Given the description of an element on the screen output the (x, y) to click on. 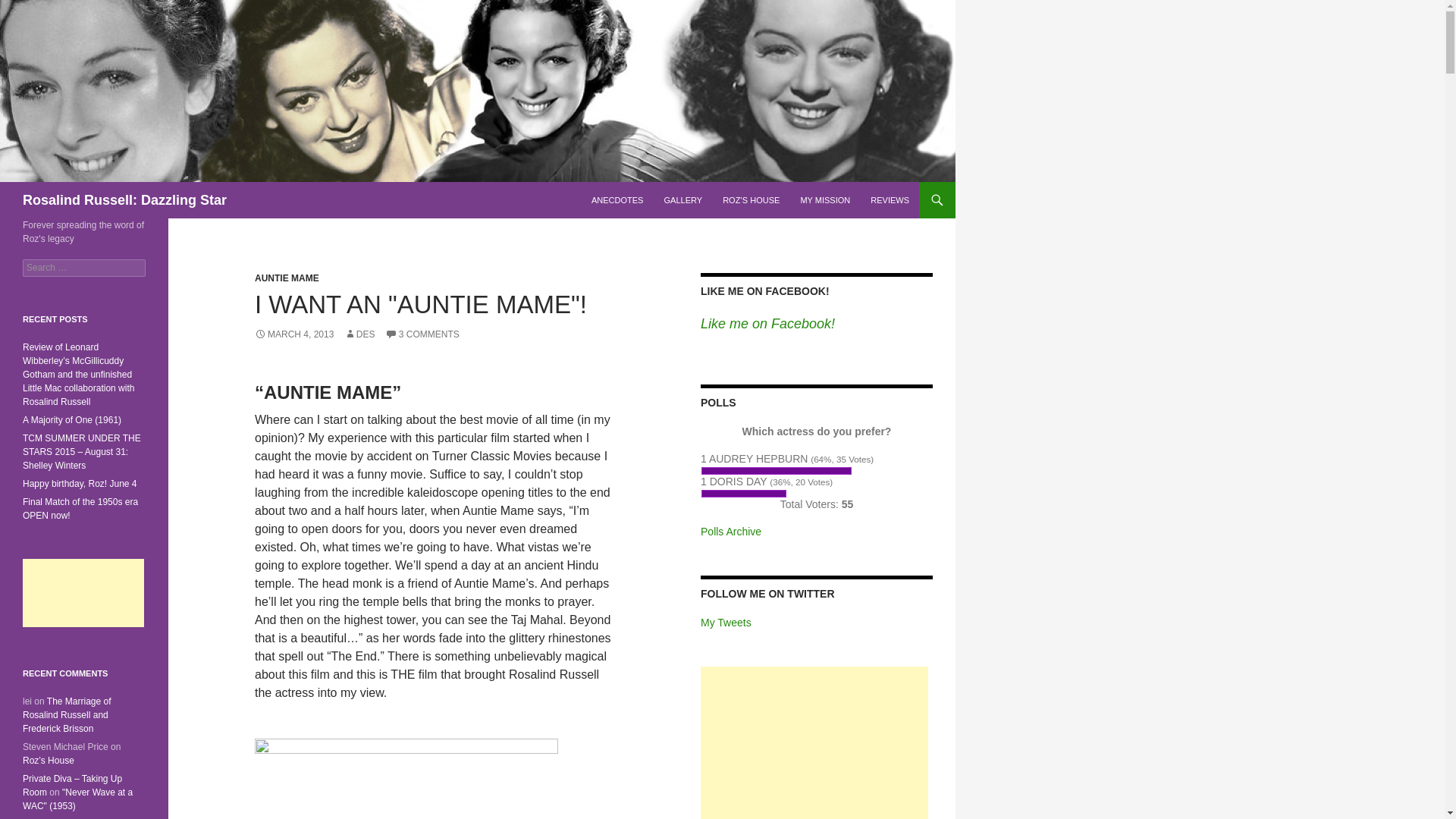
3 COMMENTS (422, 334)
DES (359, 334)
Rosalind Russell: Dazzling Star (125, 199)
GALLERY (683, 199)
MY MISSION (824, 199)
REVIEWS (889, 199)
AUNTIE MAME (286, 277)
ANECDOTES (617, 199)
MARCH 4, 2013 (293, 334)
